Given the description of an element on the screen output the (x, y) to click on. 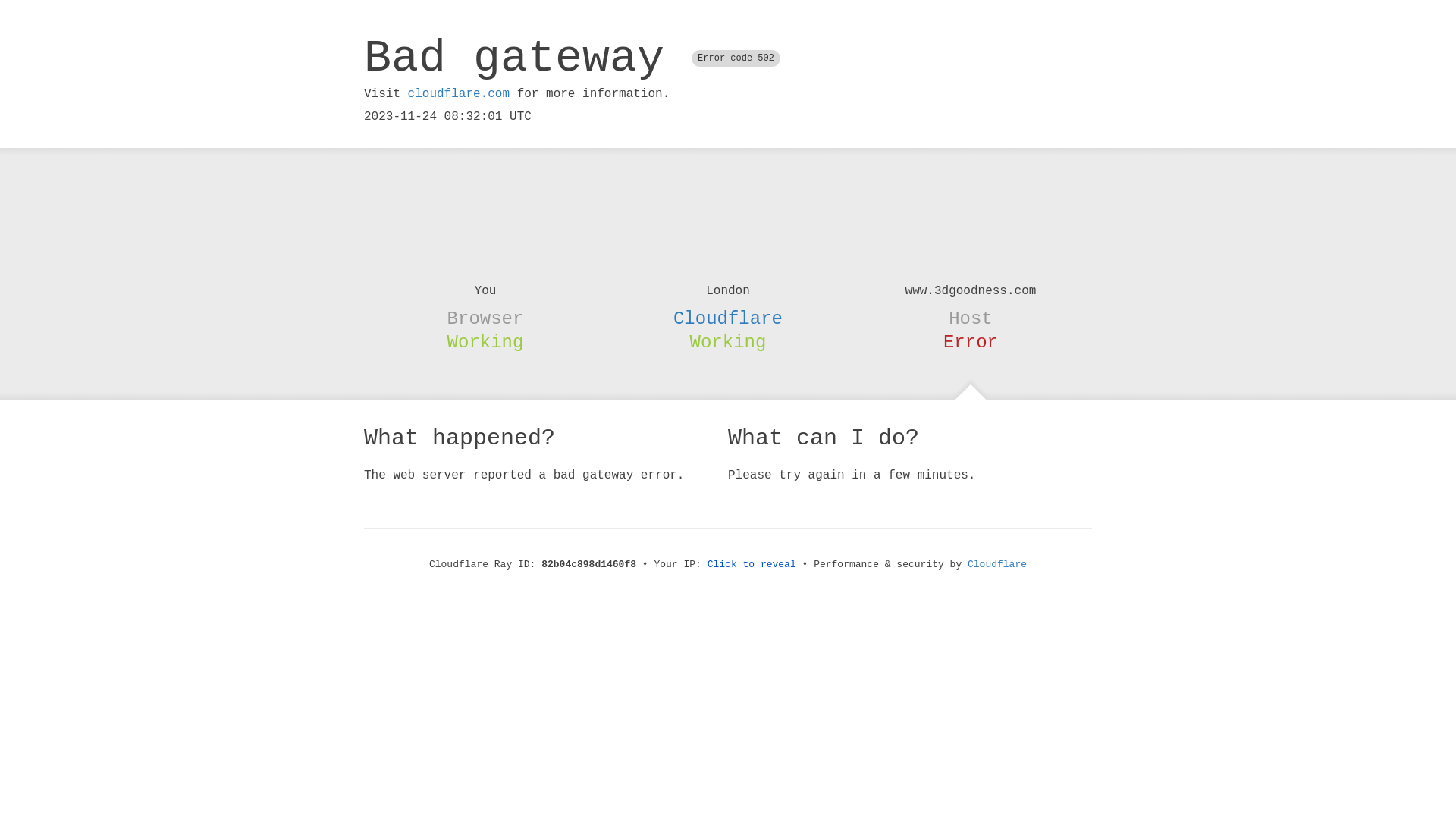
Cloudflare Element type: text (727, 318)
Cloudflare Element type: text (996, 564)
Click to reveal Element type: text (751, 564)
cloudflare.com Element type: text (458, 93)
